Given the description of an element on the screen output the (x, y) to click on. 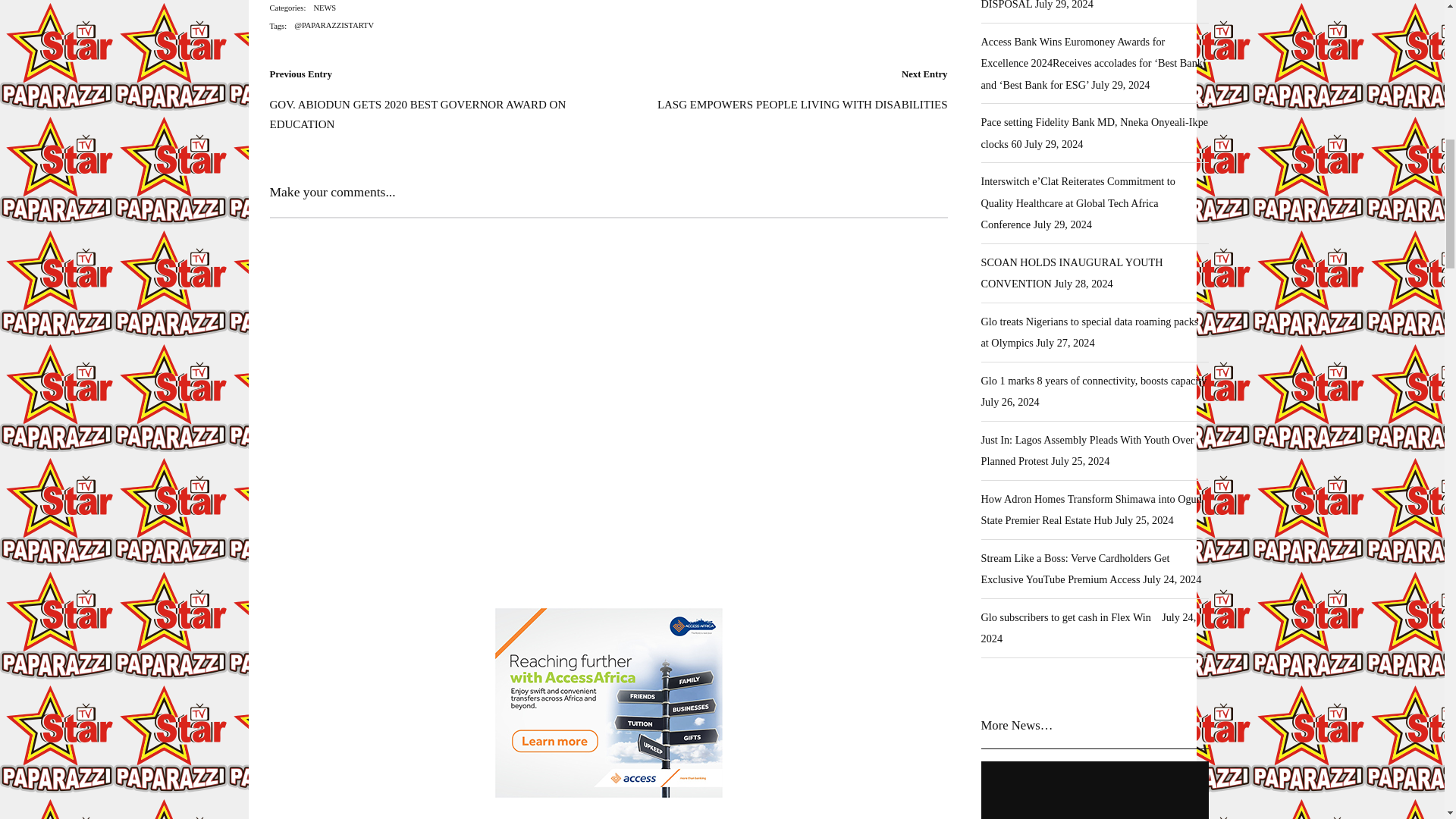
NEWS (323, 8)
